Given the description of an element on the screen output the (x, y) to click on. 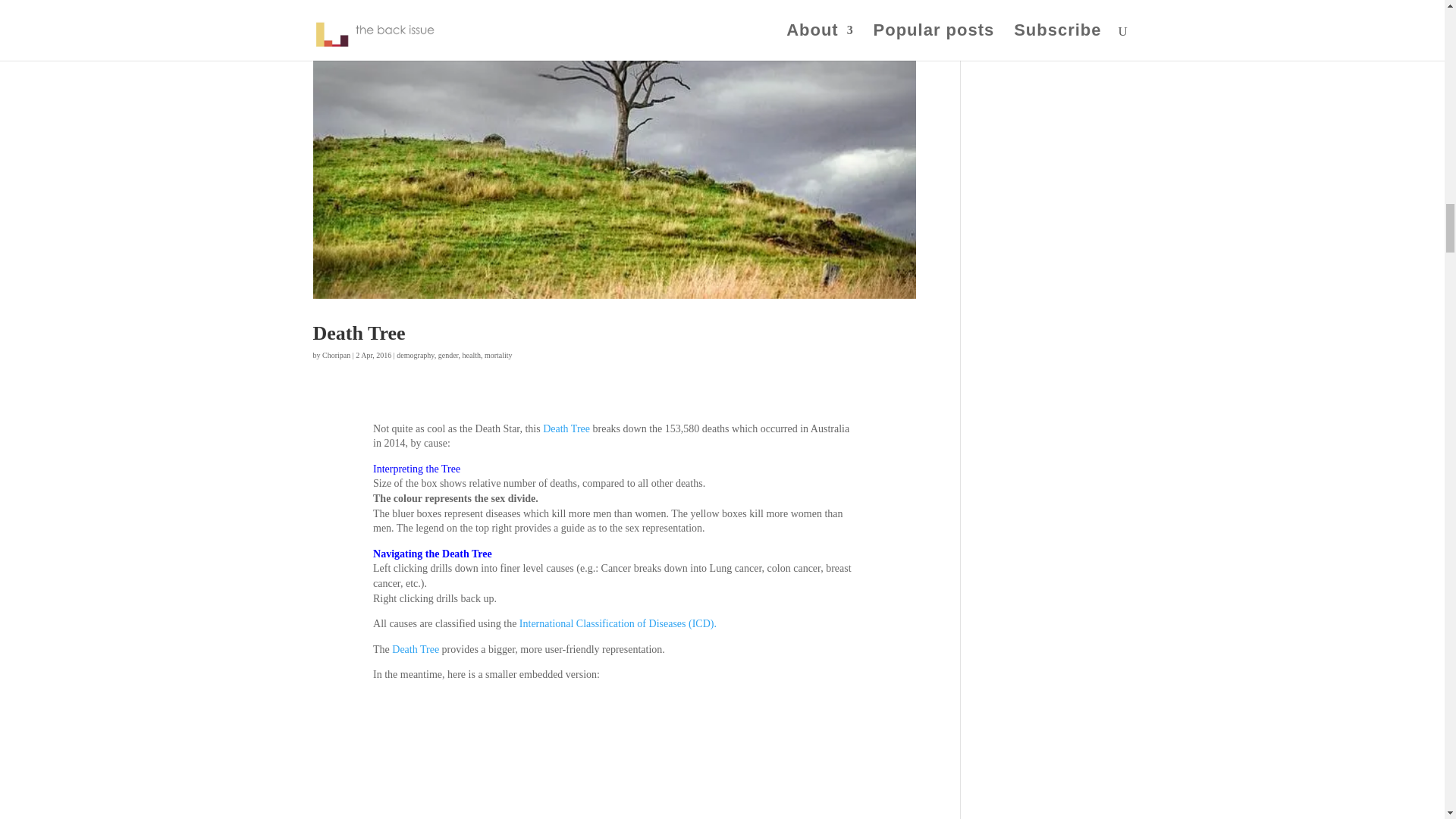
health (471, 355)
demography (414, 355)
Posts by Choripan (335, 355)
Choripan (335, 355)
Death Tree (358, 332)
Death Tree (415, 649)
gender (448, 355)
mortality (498, 355)
Death Tree (566, 428)
